Given the description of an element on the screen output the (x, y) to click on. 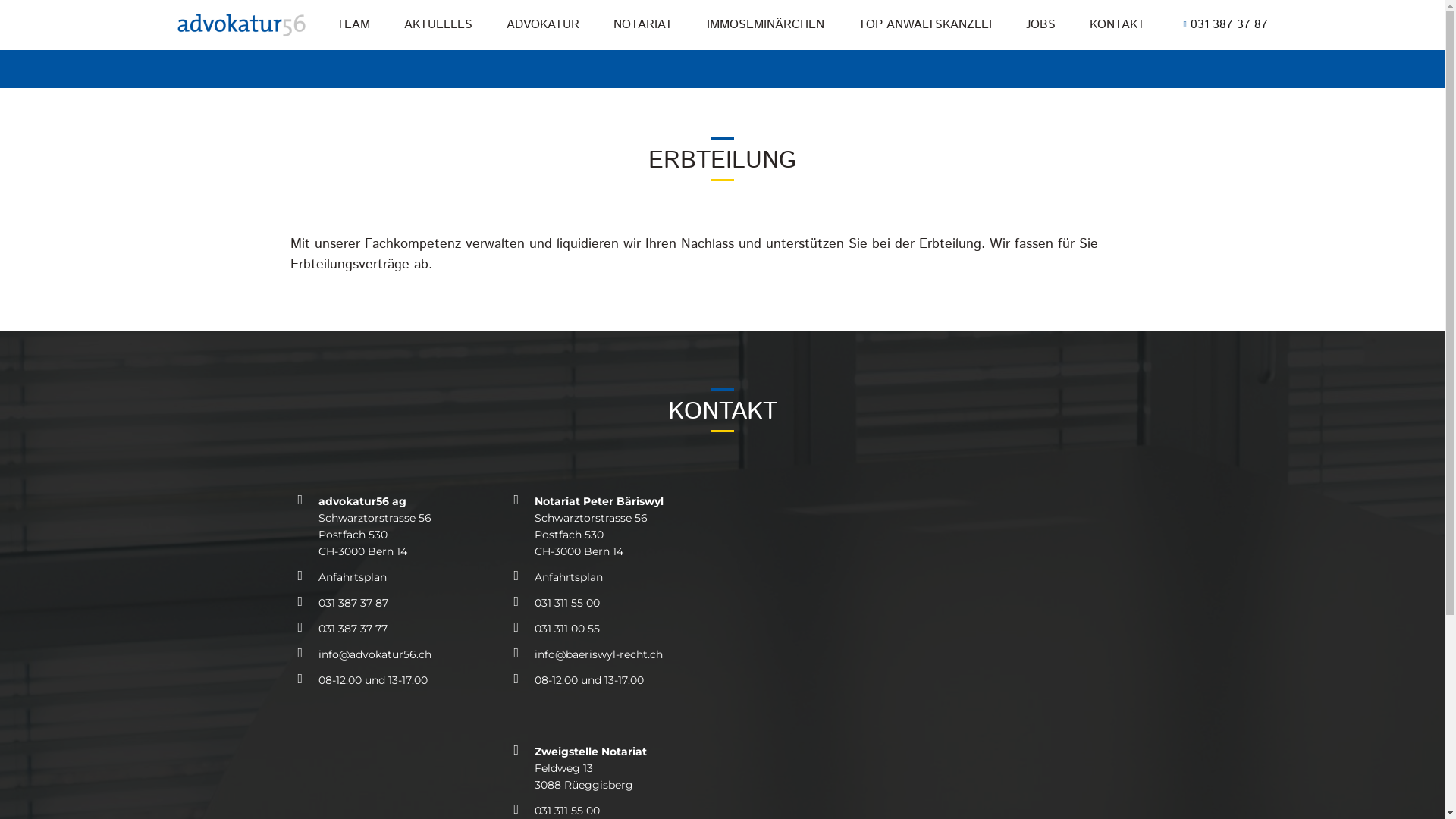
AKTUELLES Element type: text (438, 24)
TOP ANWALTSKANZLEI Element type: text (925, 24)
NOTARIAT Element type: text (642, 24)
Firmenlogo_Advokatur56_400x75px.png Element type: hover (241, 24)
info@baeriswyl-recht.ch Element type: text (614, 654)
031 311 55 00 Element type: text (614, 602)
Anfahrtsplan Element type: text (397, 576)
JOBS Element type: text (1040, 24)
KONTAKT Element type: text (1117, 24)
Anfahrtsplan Element type: text (614, 576)
TEAM Element type: text (353, 24)
ADVOKATUR Element type: text (542, 24)
Schwarztorstrasse 56, Bern Element type: hover (937, 606)
info@advokatur56.ch Element type: text (397, 654)
031 387 37 87 Element type: text (397, 602)
031 387 37 87 Element type: text (1221, 24)
